Given the description of an element on the screen output the (x, y) to click on. 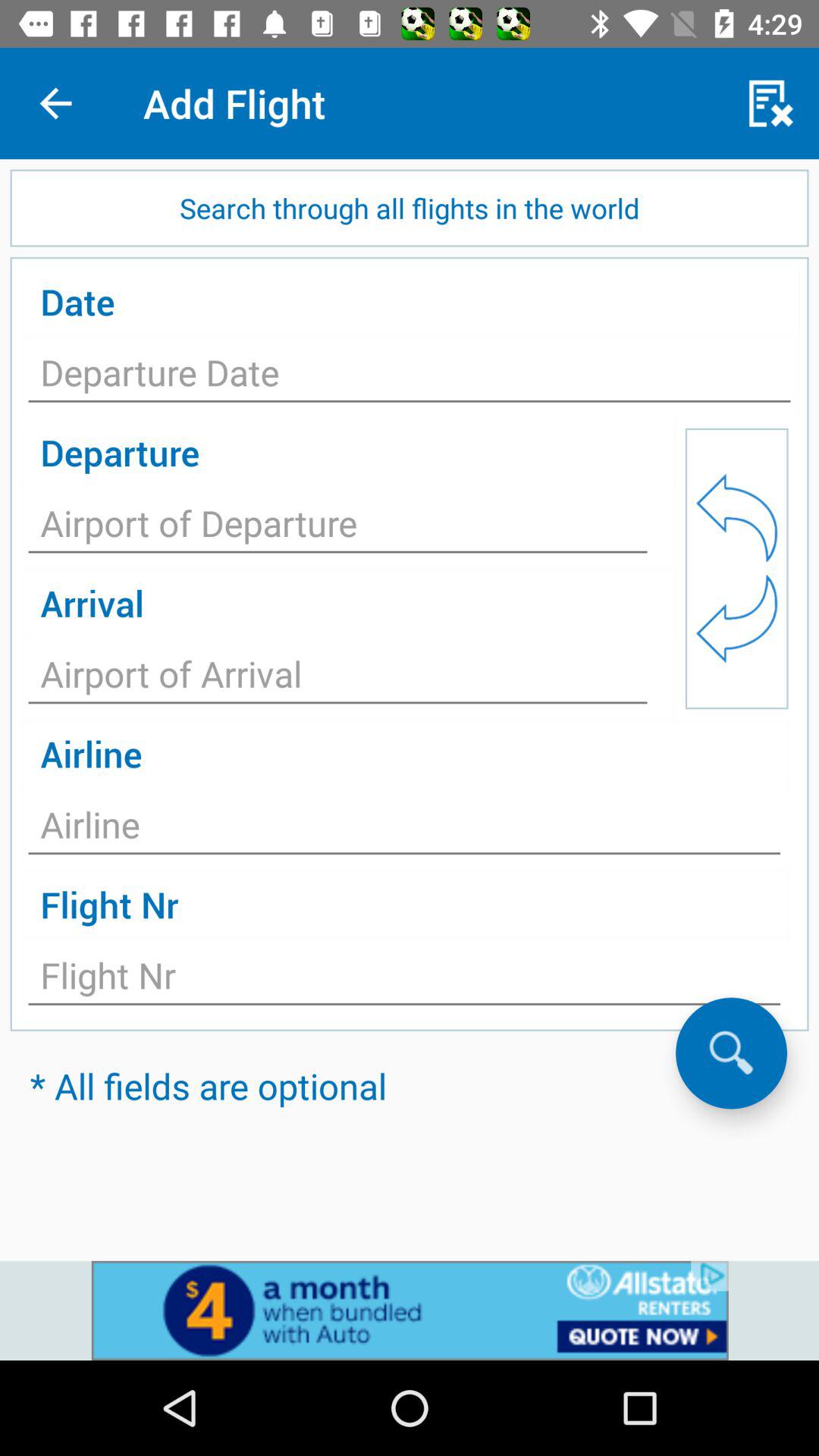
search button (404, 979)
